Given the description of an element on the screen output the (x, y) to click on. 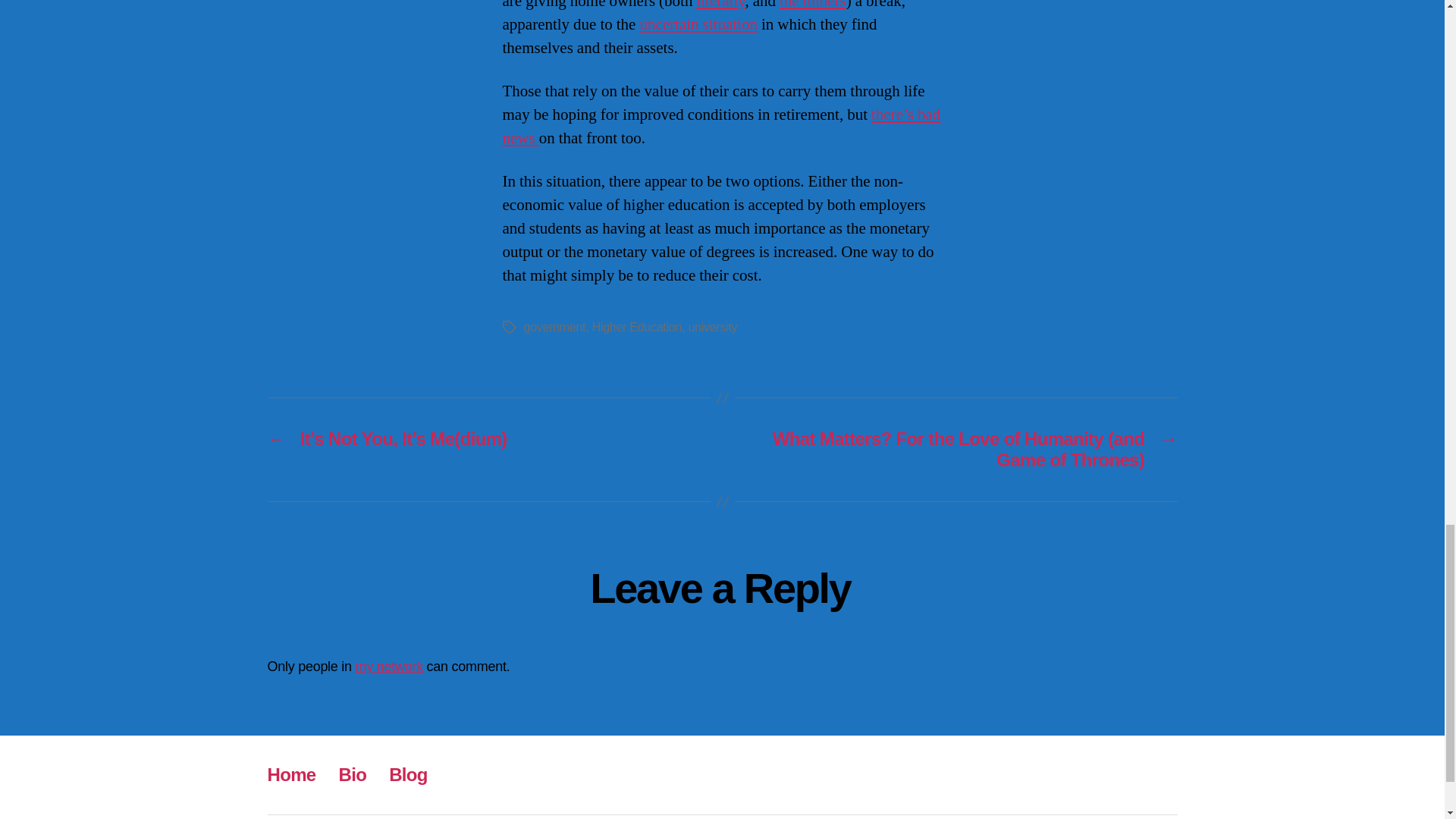
the miners (811, 5)
literally (719, 5)
uncertain situation (698, 24)
Home (290, 774)
my network (389, 666)
Higher Education (636, 327)
university (711, 327)
Home (290, 774)
government (553, 327)
